Given the description of an element on the screen output the (x, y) to click on. 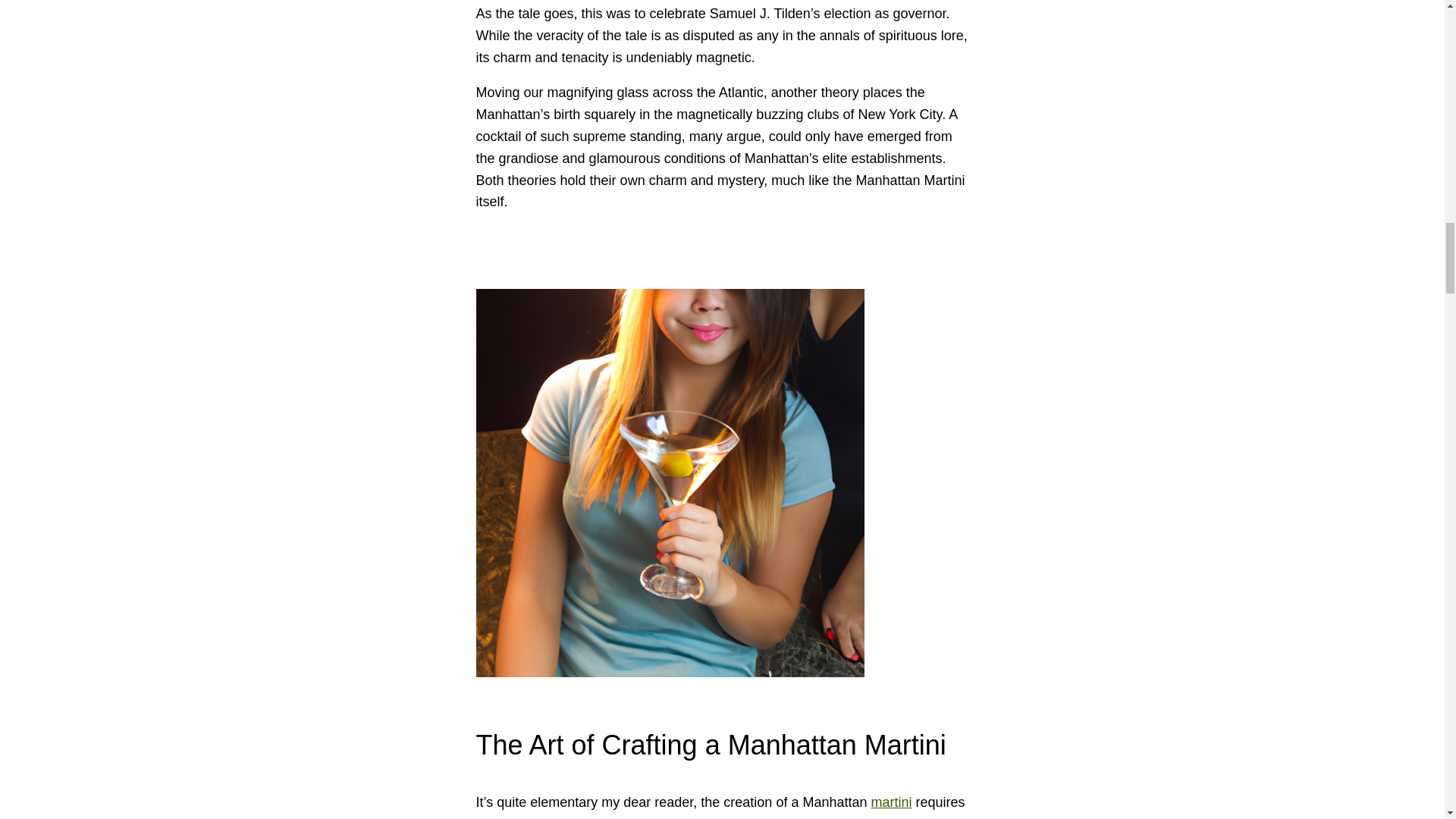
martini (890, 801)
